Given the description of an element on the screen output the (x, y) to click on. 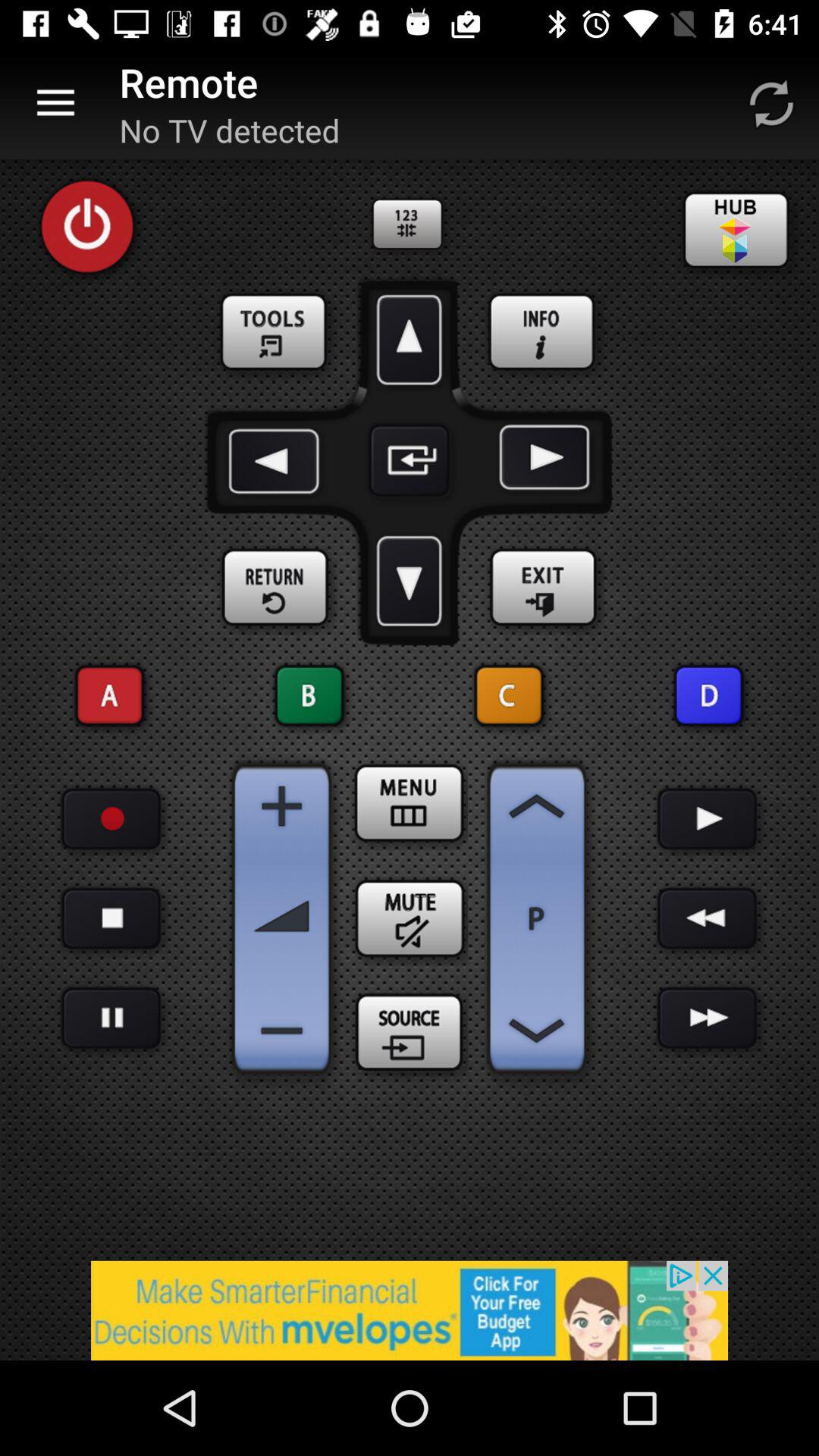
source option (409, 1034)
